Given the description of an element on the screen output the (x, y) to click on. 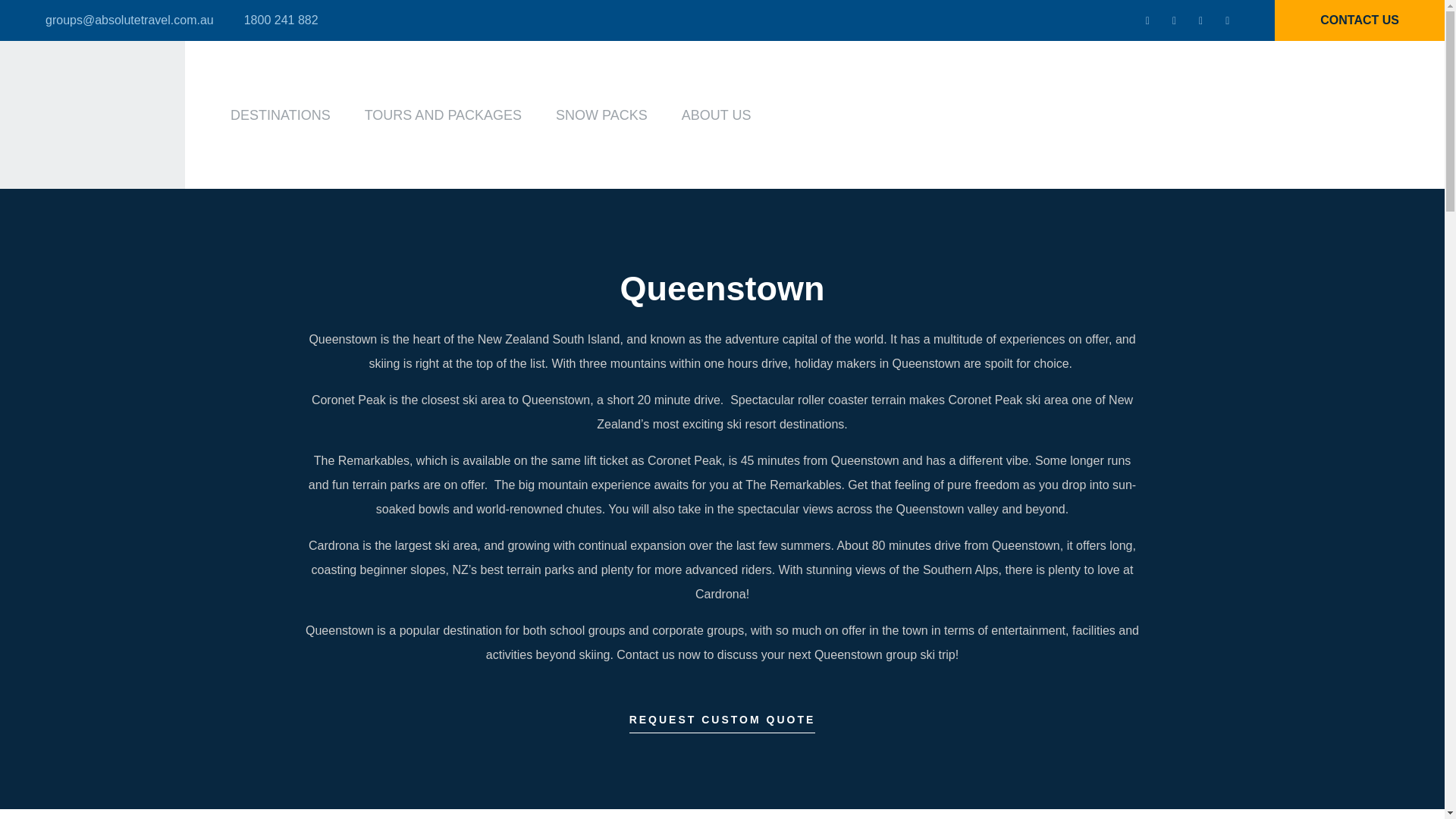
TOURS AND PACKAGES (443, 114)
SNOW PACKS (601, 114)
Tours and Packages (443, 114)
REQUEST CUSTOM QUOTE (721, 723)
Destinations (280, 114)
Snow Packs (601, 114)
1800 241 882 (281, 20)
About Us (716, 114)
ABOUT US (716, 114)
DESTINATIONS (280, 114)
